Given the description of an element on the screen output the (x, y) to click on. 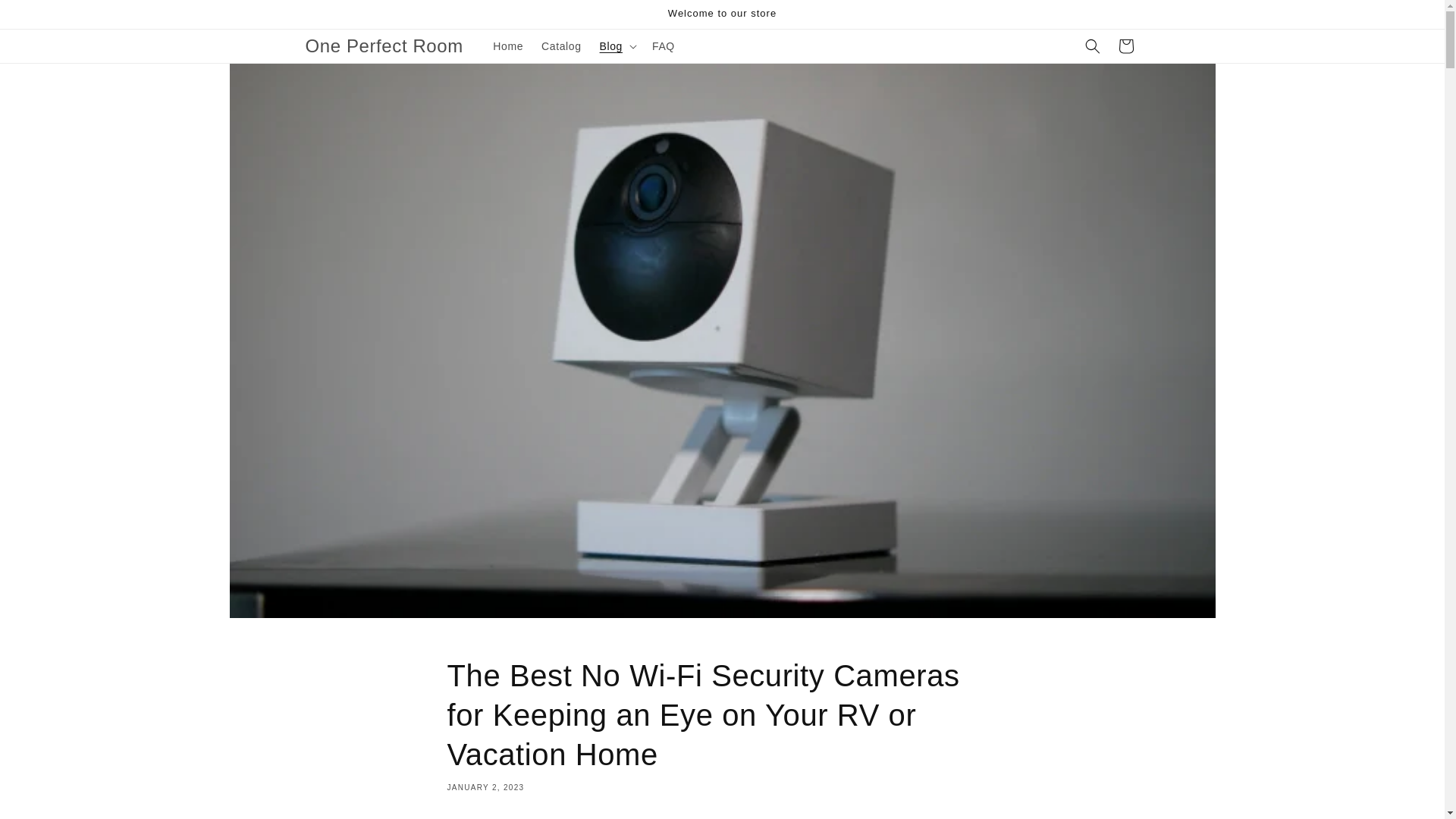
FAQ (663, 46)
One Perfect Room (383, 46)
Catalog (560, 46)
Cart (1124, 46)
Home (507, 46)
Skip to content (45, 17)
